Given the description of an element on the screen output the (x, y) to click on. 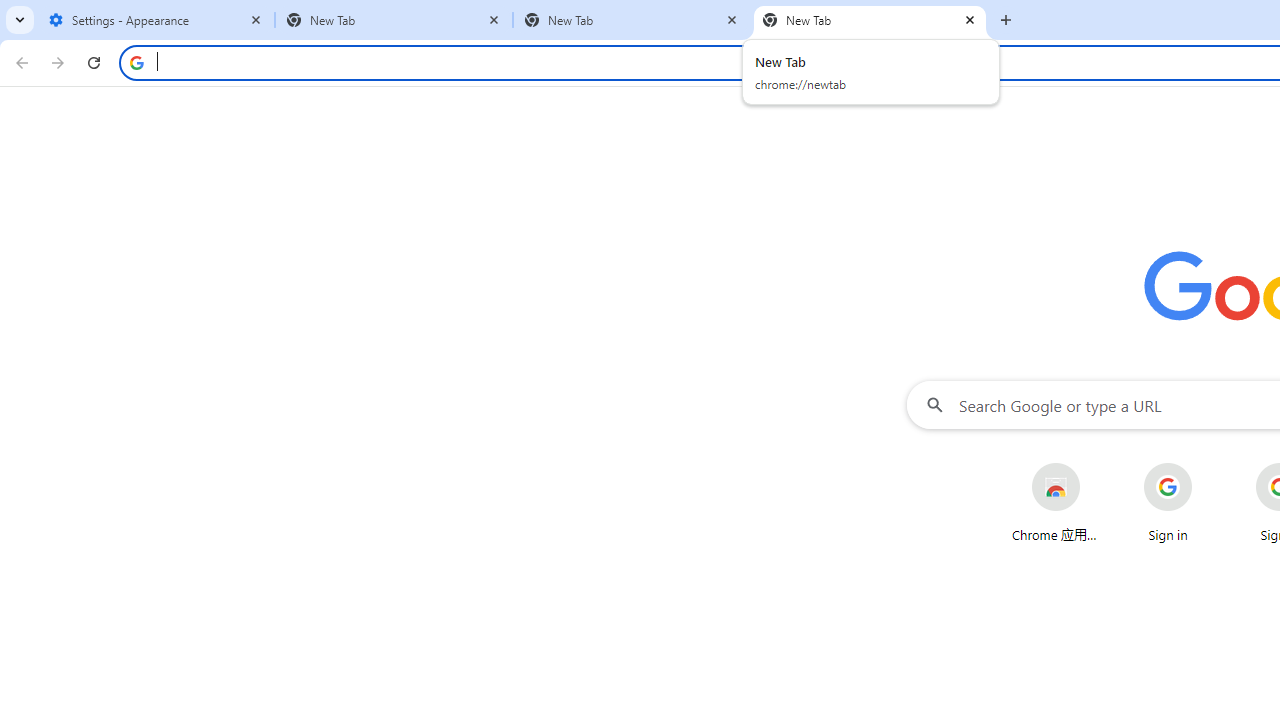
New Tab (632, 20)
